Given the description of an element on the screen output the (x, y) to click on. 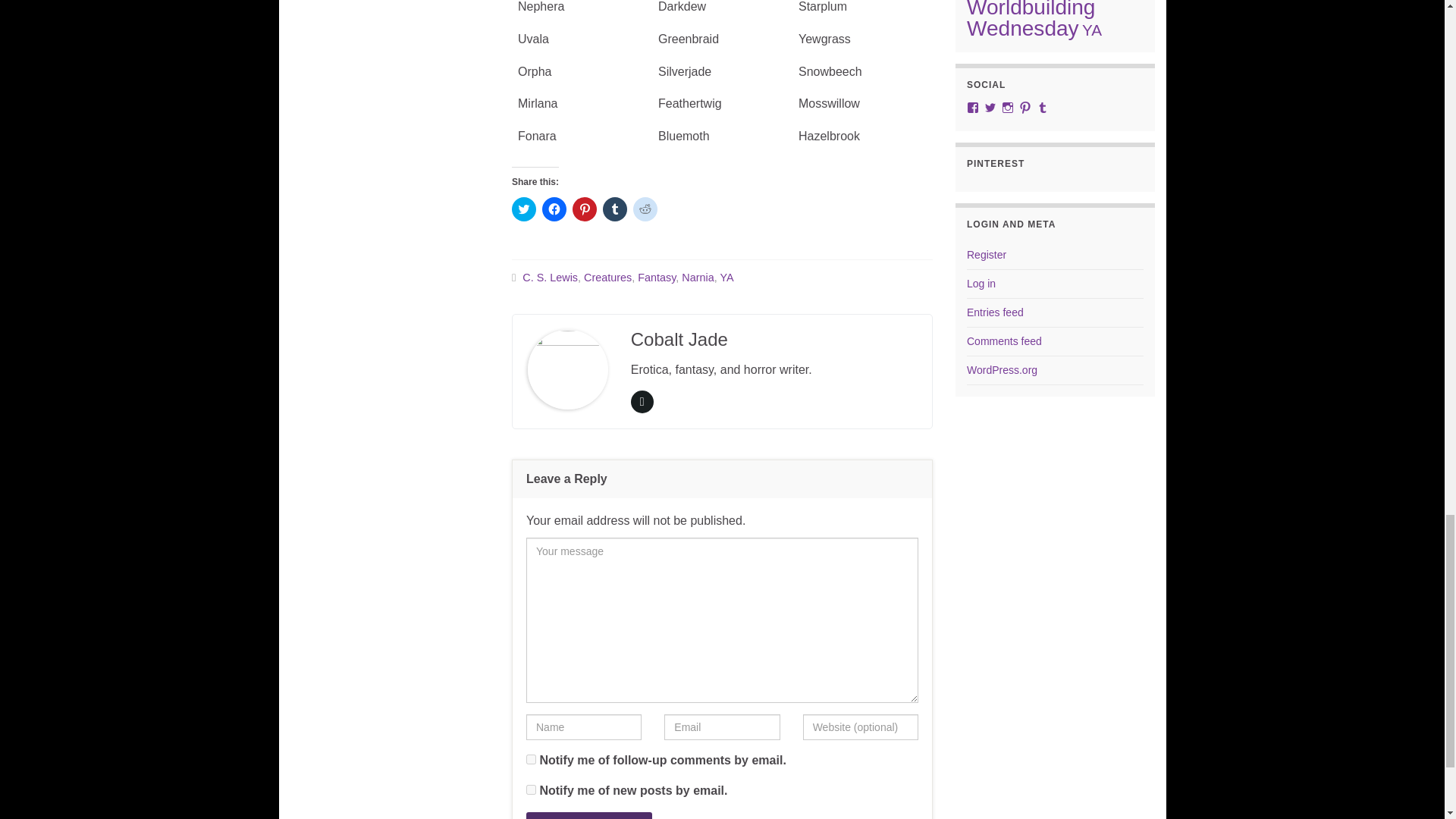
Creatures (607, 277)
Click to share on Tumblr (614, 209)
YA (726, 277)
Submit Comment (588, 815)
Submit Comment (588, 815)
subscribe (530, 789)
Click to share on Reddit (645, 209)
C. S. Lewis (550, 277)
Narnia (697, 277)
subscribe (530, 759)
